Given the description of an element on the screen output the (x, y) to click on. 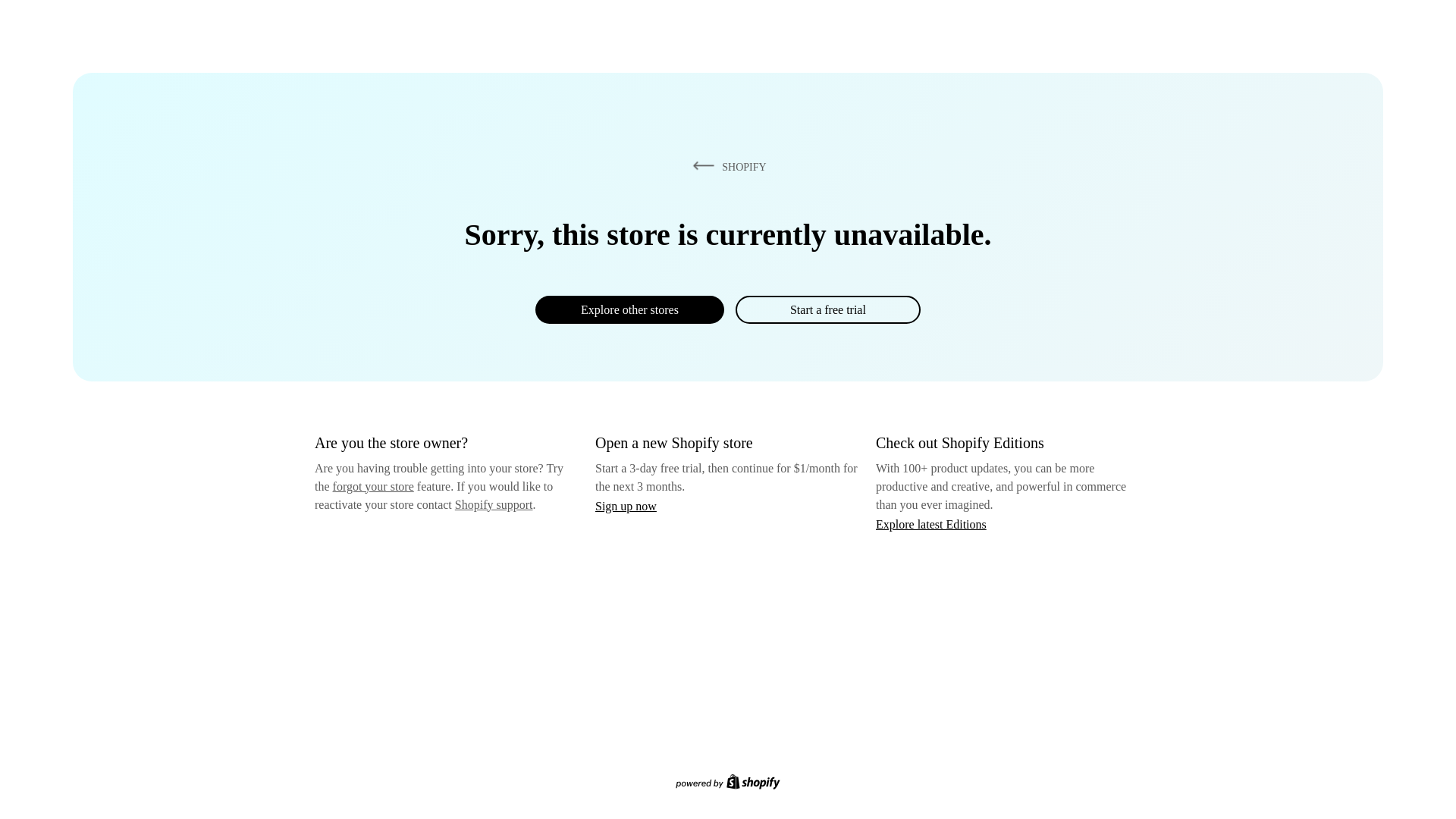
Start a free trial (827, 309)
forgot your store (373, 486)
Shopify support (493, 504)
Sign up now (625, 505)
SHOPIFY (726, 166)
Explore other stores (629, 309)
Explore latest Editions (931, 523)
